Given the description of an element on the screen output the (x, y) to click on. 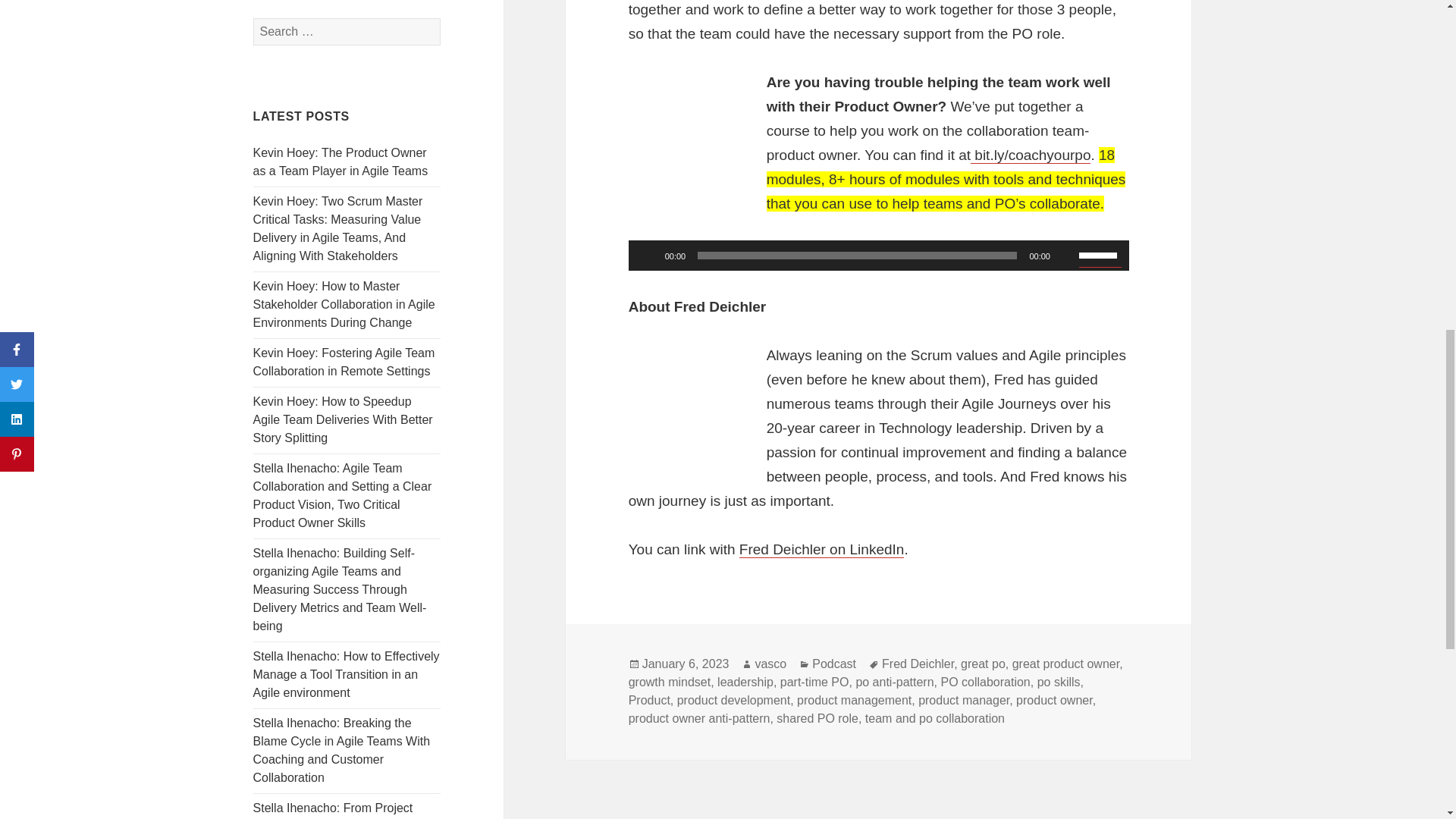
PO collaboration (984, 682)
leadership (745, 682)
part-time PO (814, 682)
Podcast (834, 663)
Fred Deichler on LinkedIn (821, 549)
Mute (1066, 255)
po anti-pattern (894, 682)
Play (648, 255)
January 6, 2023 (685, 663)
